Given the description of an element on the screen output the (x, y) to click on. 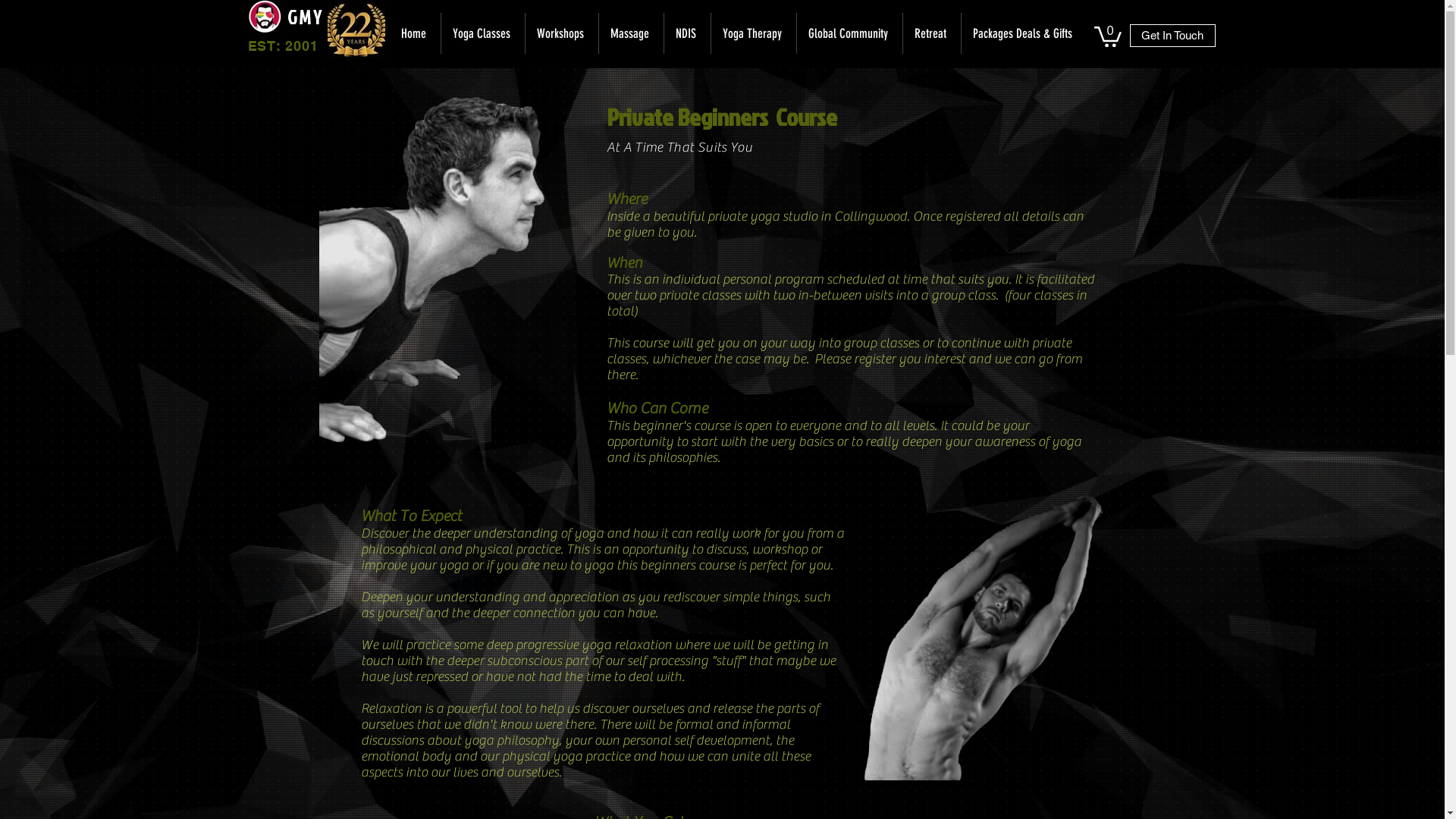
Yoga Classes Element type: text (481, 32)
0 Element type: text (1106, 35)
www.gaymensyoga.com.au Element type: hover (356, 28)
Workshops Element type: text (561, 32)
Global Community Element type: text (849, 32)
Retreat Element type: text (931, 32)
Yoga Therapy Element type: text (752, 32)
Get In Touch Element type: text (1172, 35)
NDIS Element type: text (685, 32)
Packages Deals & Gifts Element type: text (1022, 32)
www.gaymensyoga.com.au Element type: hover (982, 634)
Home Element type: text (414, 32)
www.gaymensyoga.com.au Element type: hover (454, 271)
GMY Element type: text (304, 16)
www.gaymensyoga.com.au Element type: hover (263, 16)
Massage Element type: text (629, 32)
